Given the description of an element on the screen output the (x, y) to click on. 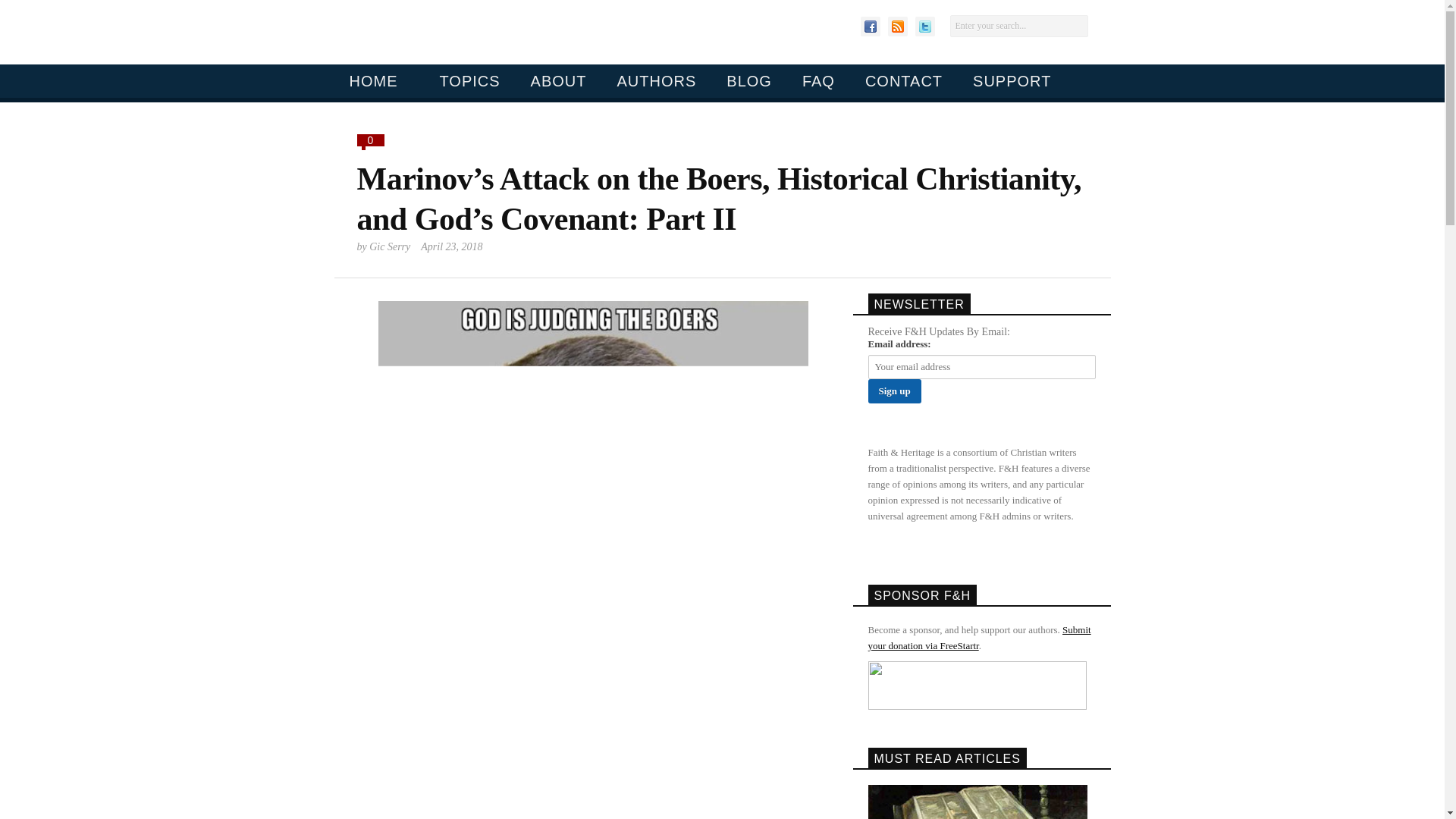
Sign up (893, 391)
Posts by Gic Serry (389, 246)
Enter your search... (1018, 25)
TOPICS (463, 80)
HOME (372, 80)
